Given the description of an element on the screen output the (x, y) to click on. 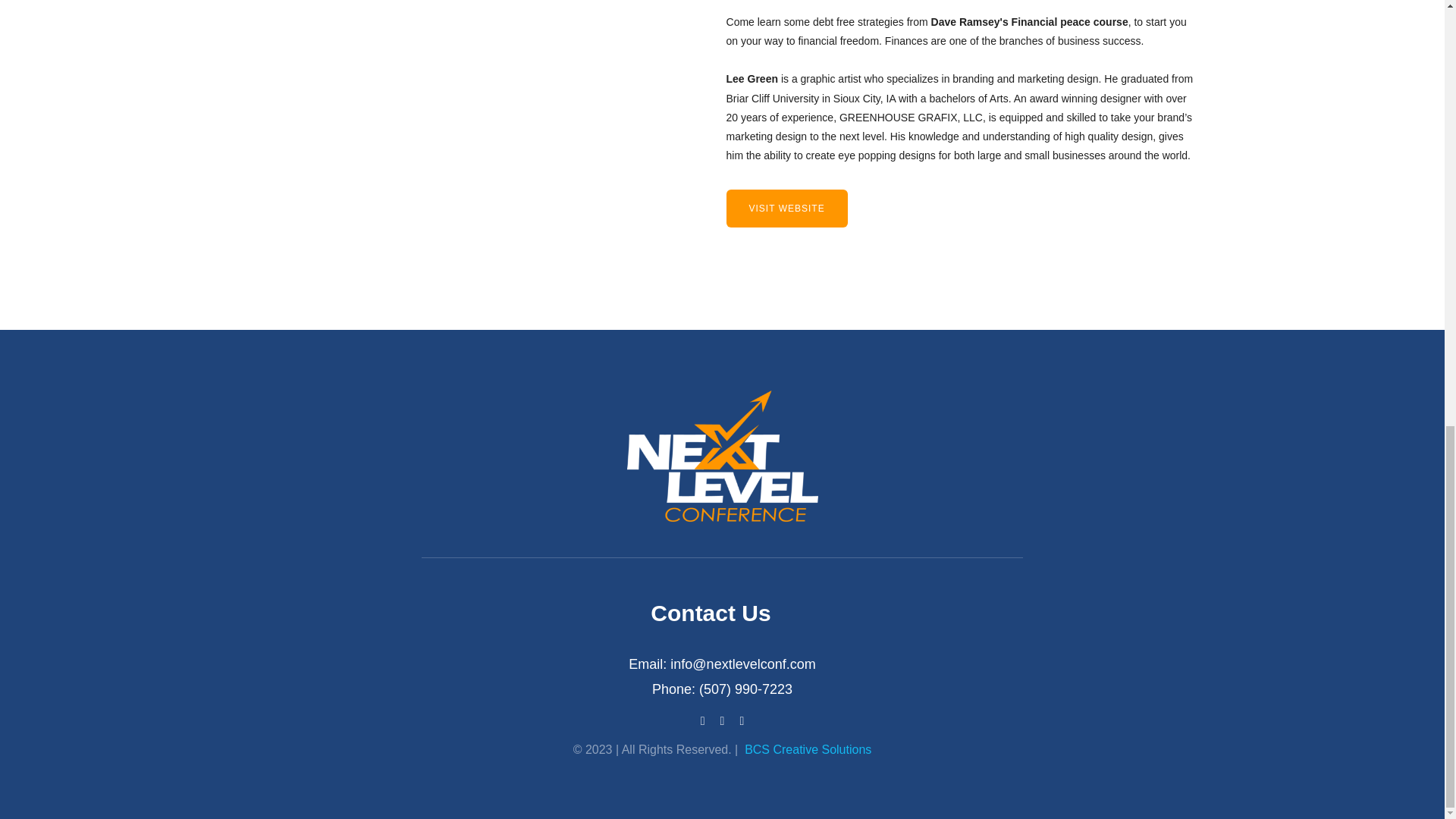
BCS Creative Solutions (807, 748)
VISIT WEBSITE (786, 208)
Logo (721, 458)
